Given the description of an element on the screen output the (x, y) to click on. 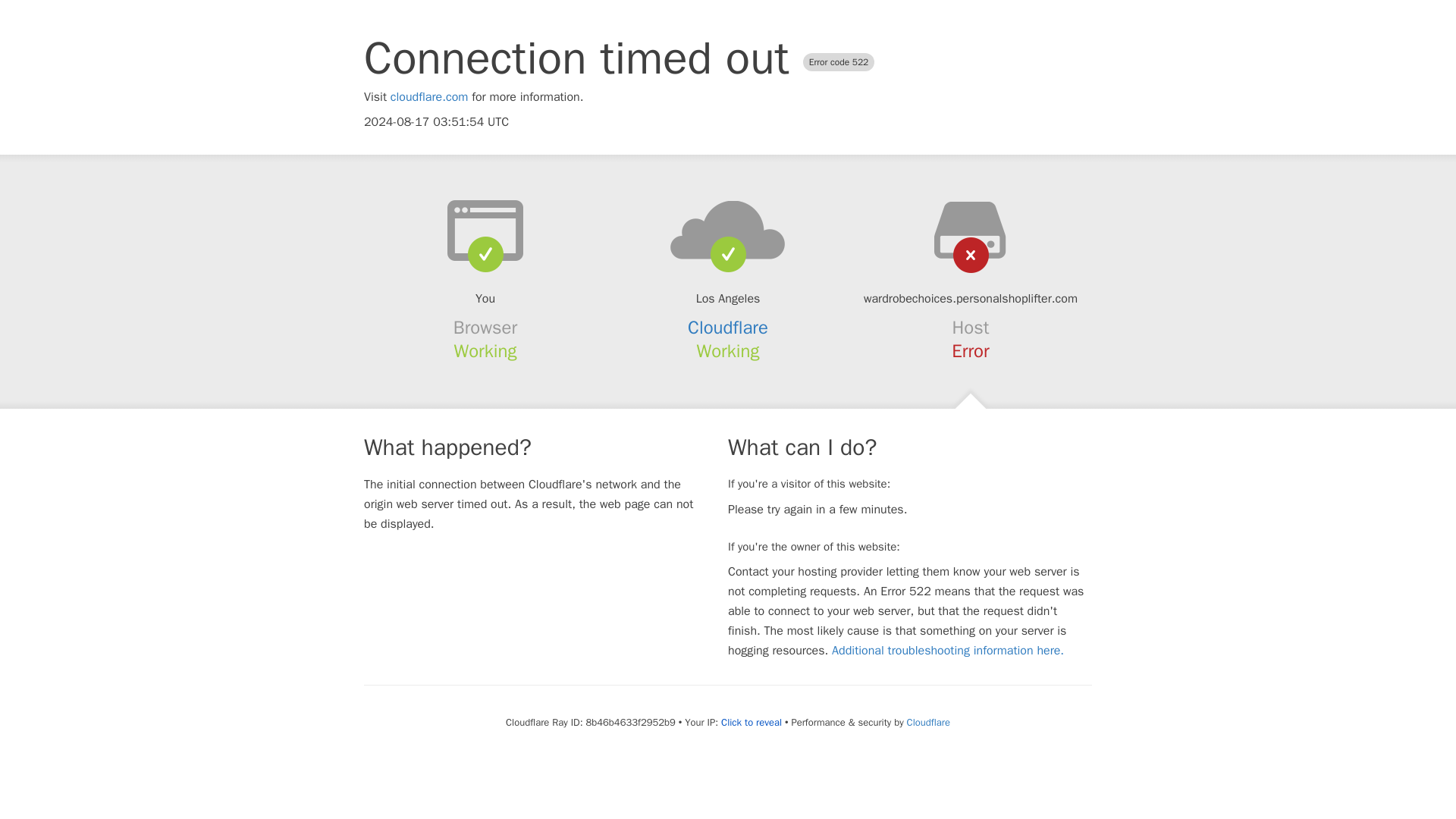
Click to reveal (750, 722)
cloudflare.com (429, 96)
Cloudflare (727, 327)
Cloudflare (928, 721)
Additional troubleshooting information here. (947, 650)
